Given the description of an element on the screen output the (x, y) to click on. 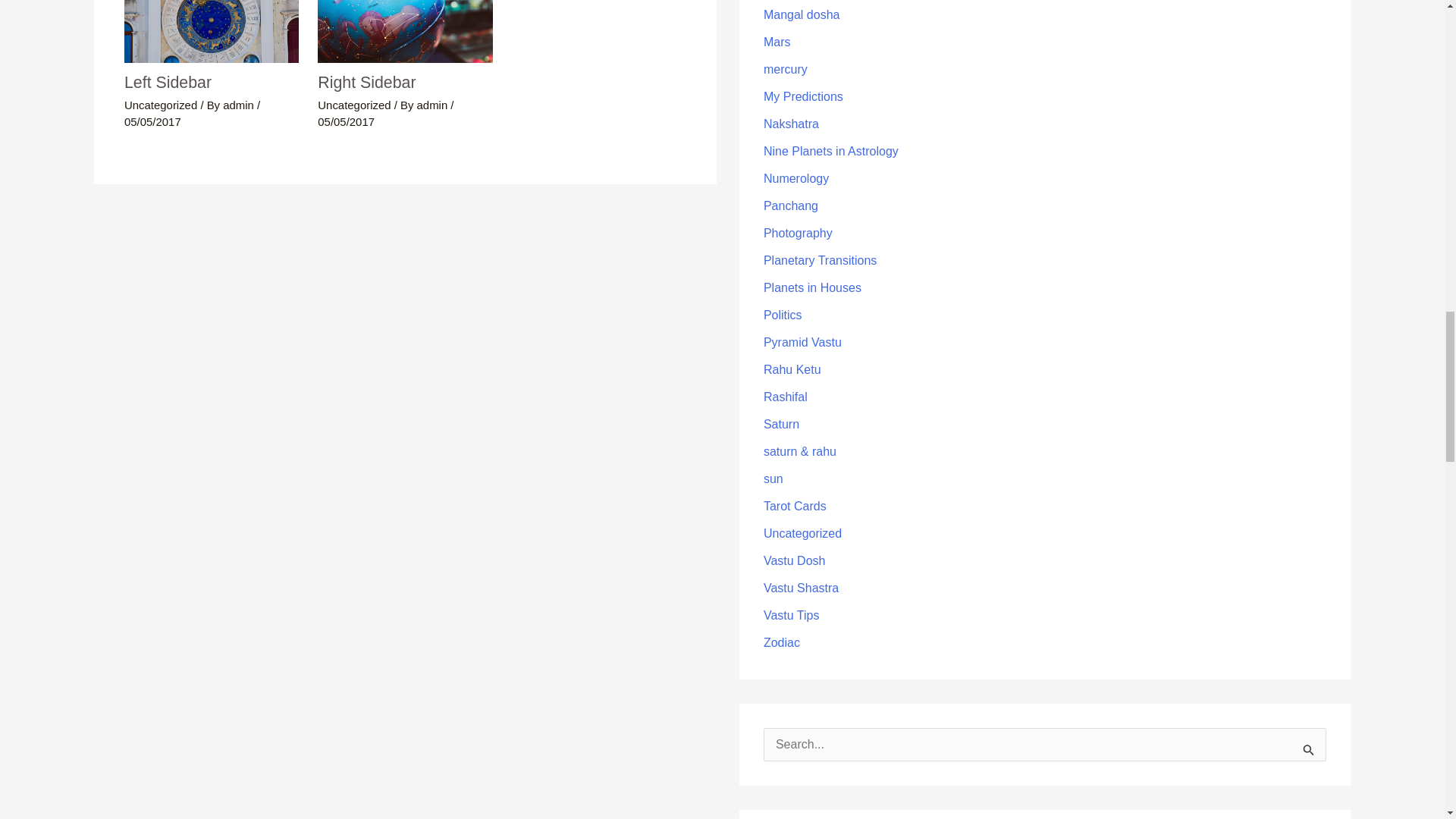
Uncategorized (353, 104)
admin (433, 104)
View all posts by admin (433, 104)
View all posts by admin (239, 104)
Right Sidebar (365, 82)
admin (239, 104)
Left Sidebar (167, 82)
Uncategorized (159, 104)
